Given the description of an element on the screen output the (x, y) to click on. 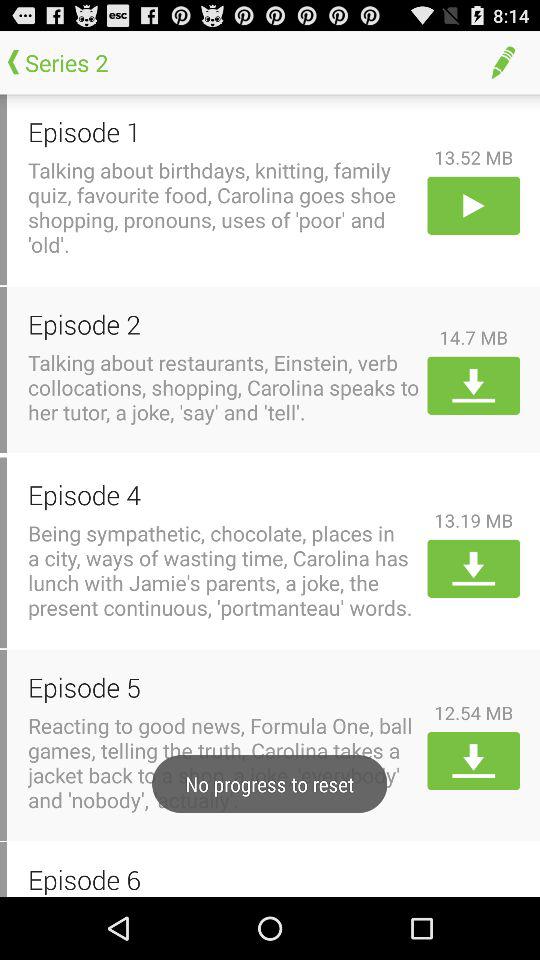
download the episode (473, 761)
